Given the description of an element on the screen output the (x, y) to click on. 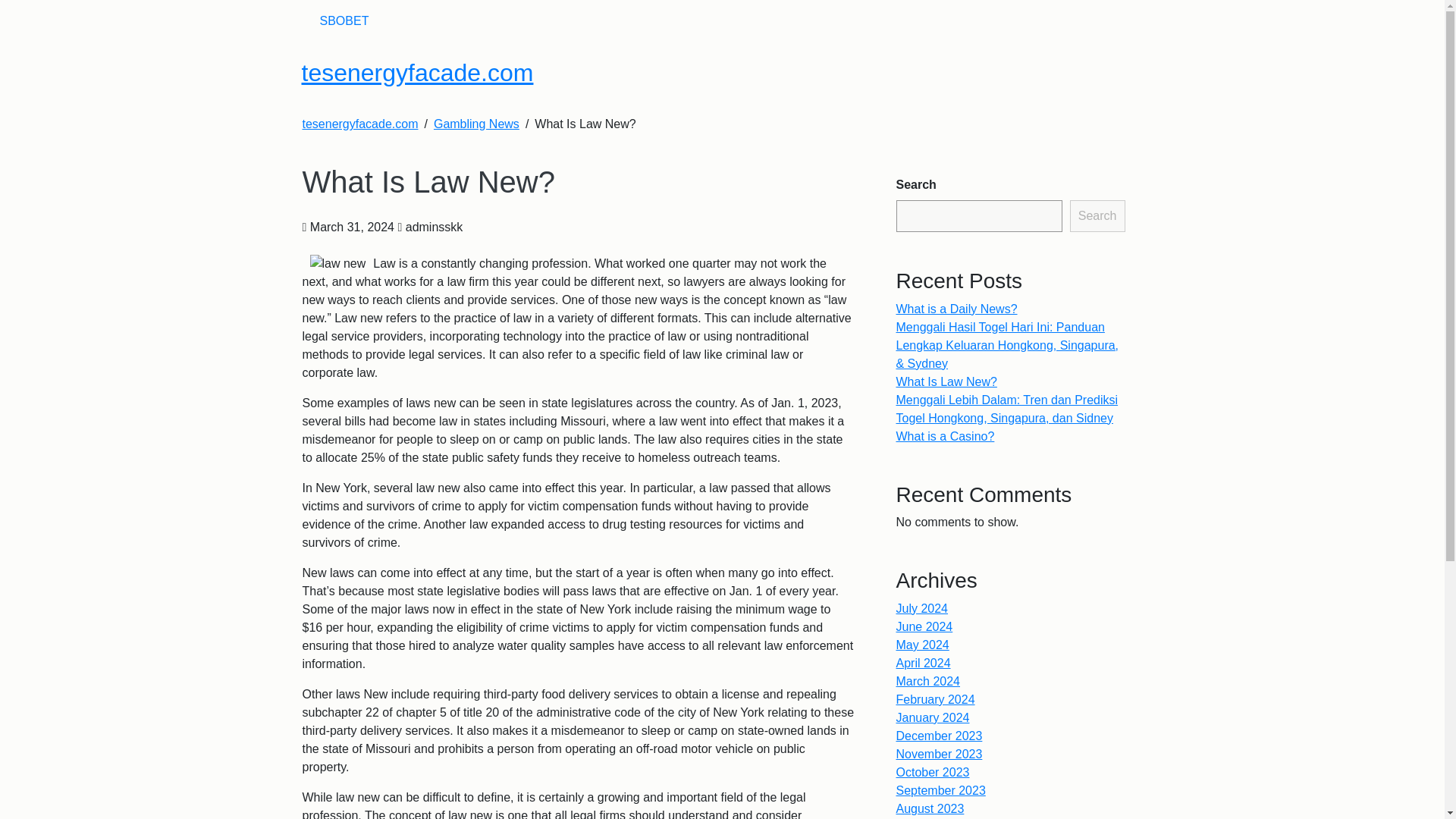
What is a Daily News? (956, 308)
September 2023 (940, 789)
tesenergyfacade.com (359, 123)
October 2023 (932, 771)
What Is Law New? (946, 381)
May 2024 (922, 644)
SBOBET (344, 20)
Gambling News (476, 123)
June 2024 (924, 626)
July 2024 (922, 608)
